Given the description of an element on the screen output the (x, y) to click on. 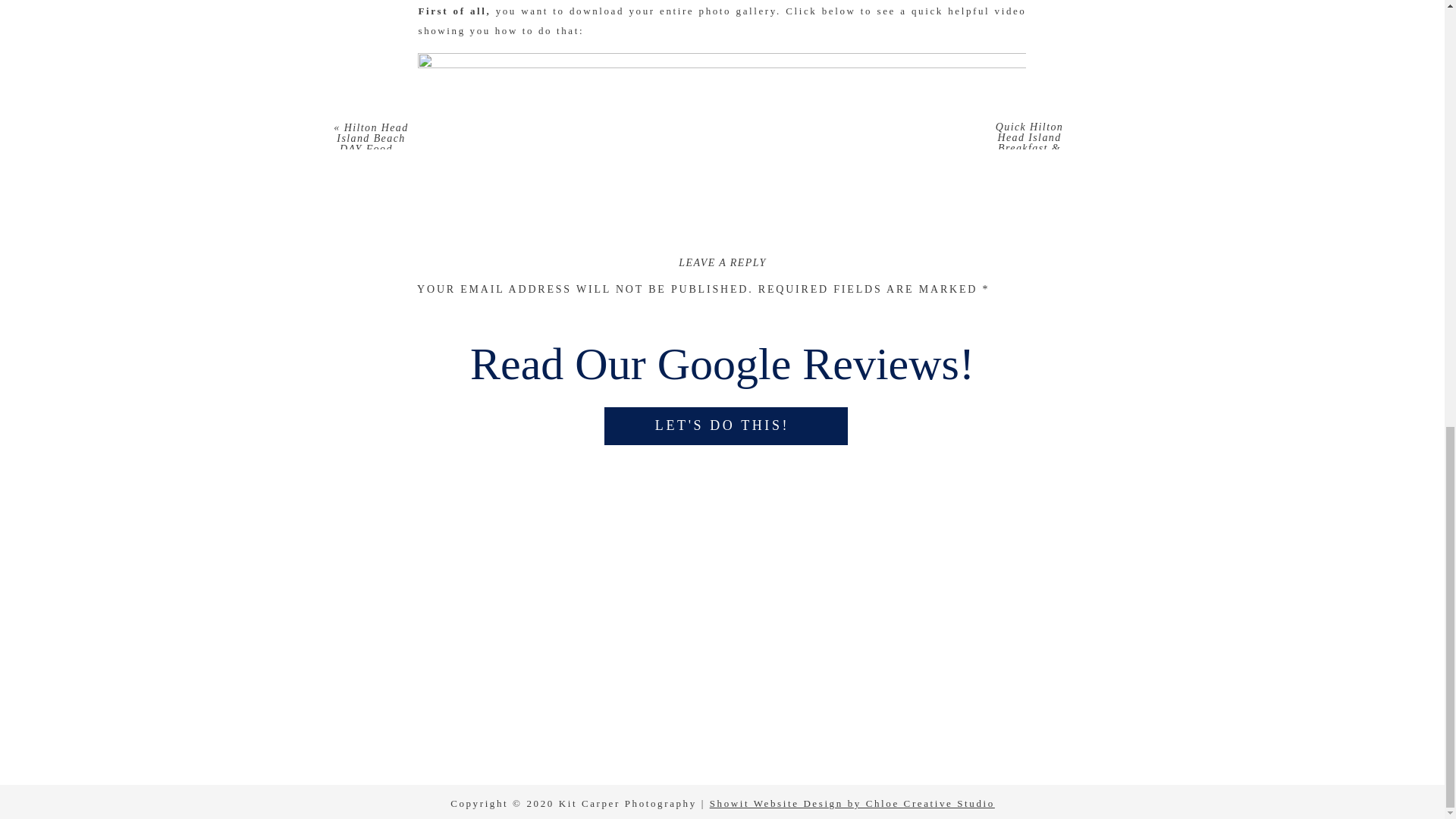
Post Comment (456, 652)
LET'S DO THIS! (722, 429)
Post Comment (456, 652)
Showit Website Design by Chloe Creative Studio (852, 803)
yes (424, 577)
